Given the description of an element on the screen output the (x, y) to click on. 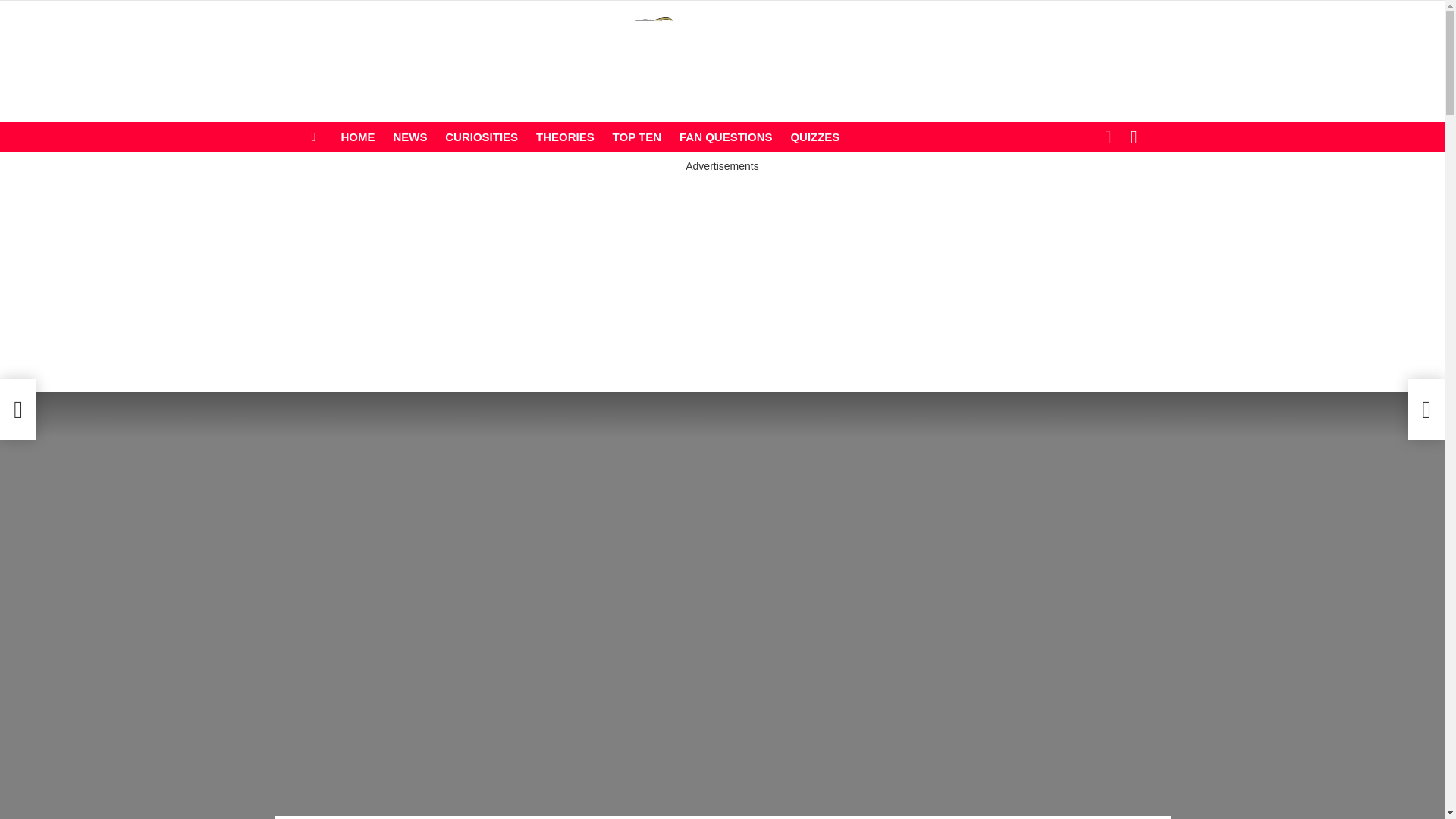
THEORIES (565, 137)
HOME (357, 137)
TOP TEN (636, 137)
CURIOSITIES (481, 137)
NEWS (409, 137)
Menu (313, 136)
FAN QUESTIONS (725, 137)
QUIZZES (815, 137)
